Given the description of an element on the screen output the (x, y) to click on. 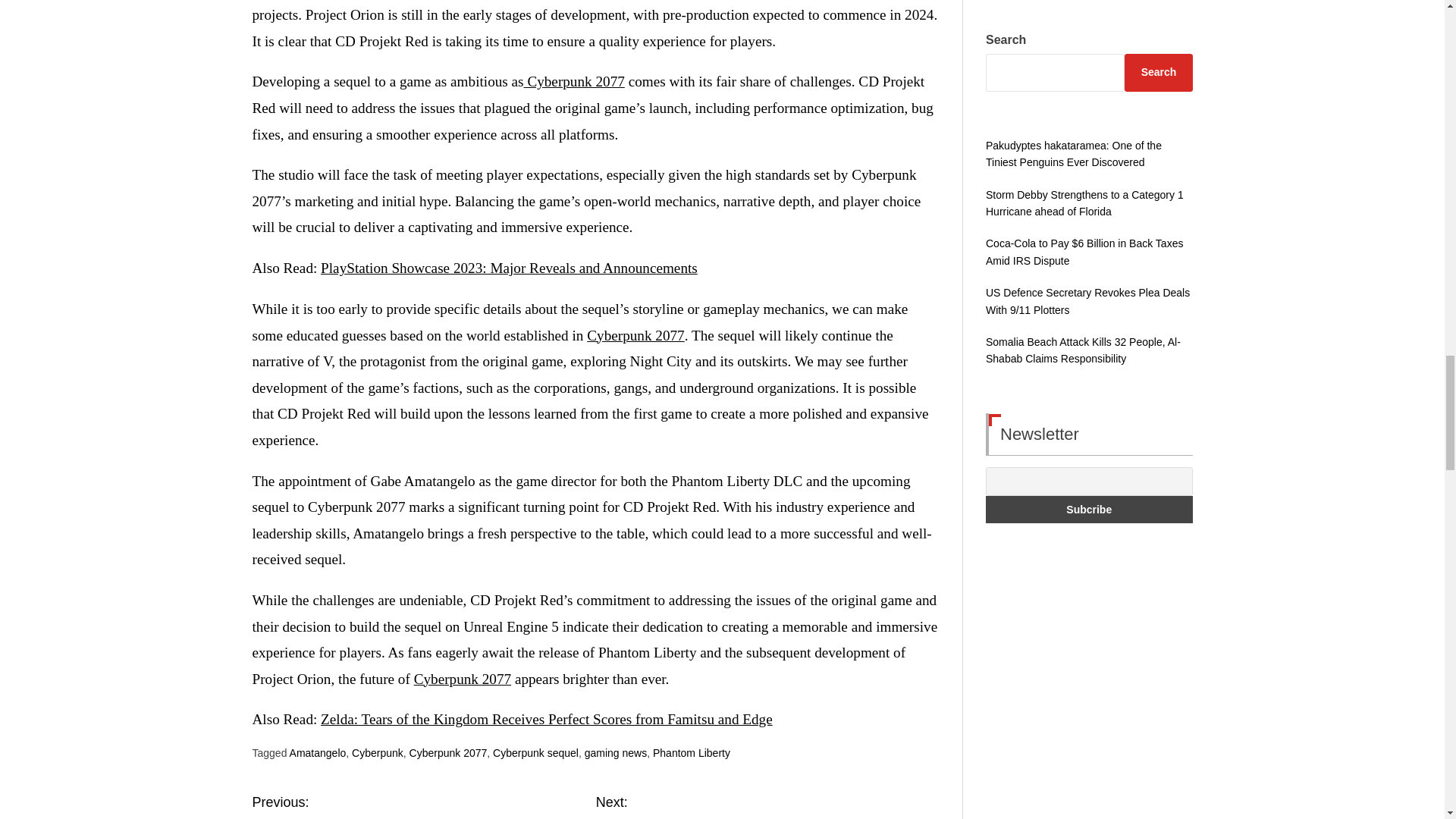
PlayStation Showcase 2023: Major Reveals and Announcements (508, 268)
Cyberpunk 2077 (635, 335)
Cyberpunk 2077 (574, 81)
